Given the description of an element on the screen output the (x, y) to click on. 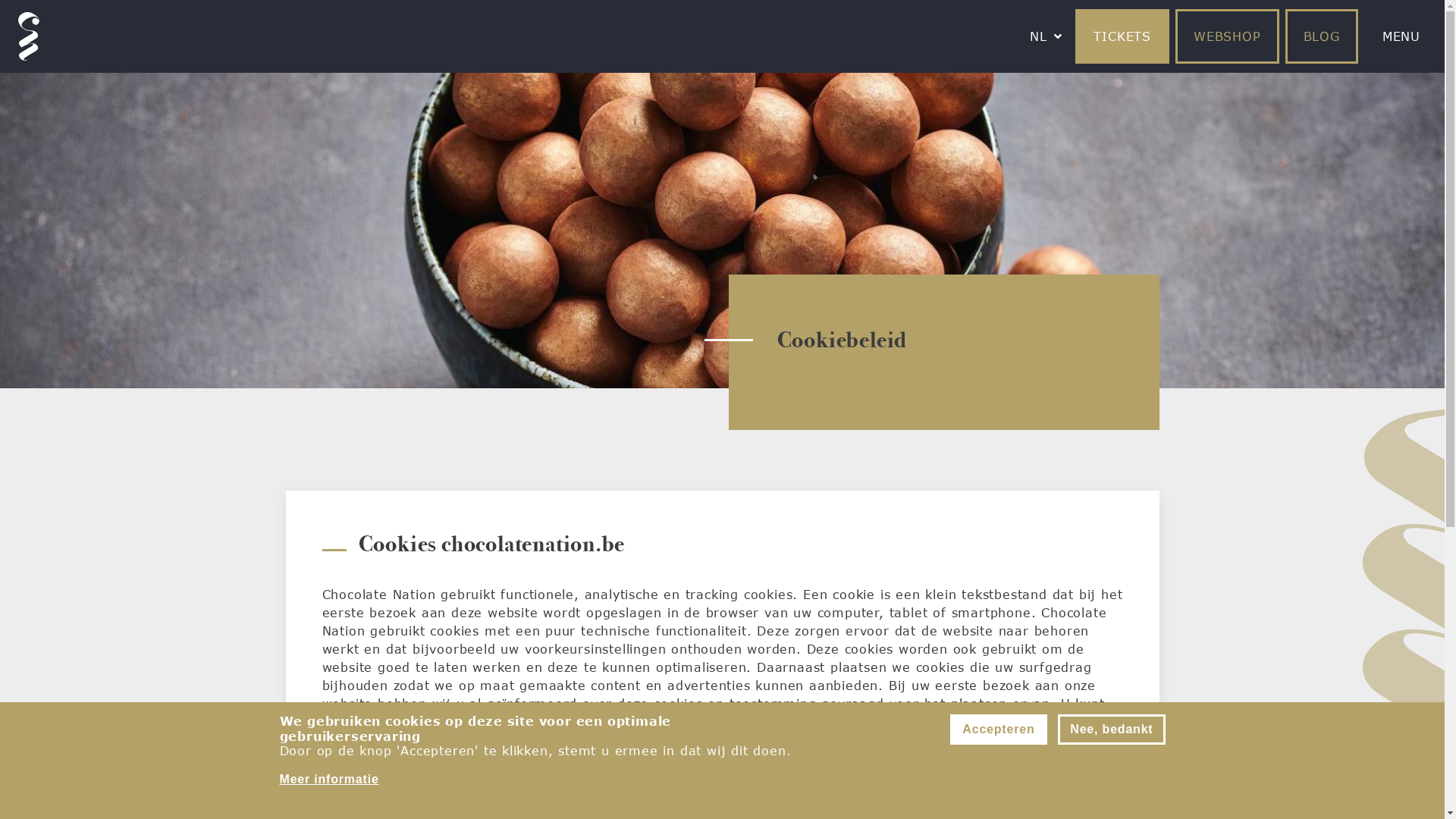
Accepteren Element type: text (998, 729)
Nee, bedankt Element type: text (1110, 729)
MENU Element type: text (1401, 36)
BLOG Element type: text (1321, 36)
Meer informatie Element type: text (328, 779)
NL Element type: text (1038, 36)
TICKETS Element type: text (1122, 36)
WEBSHOP Element type: text (1227, 36)
Overslaan en naar de inhoud gaan Element type: text (0, 0)
